Given the description of an element on the screen output the (x, y) to click on. 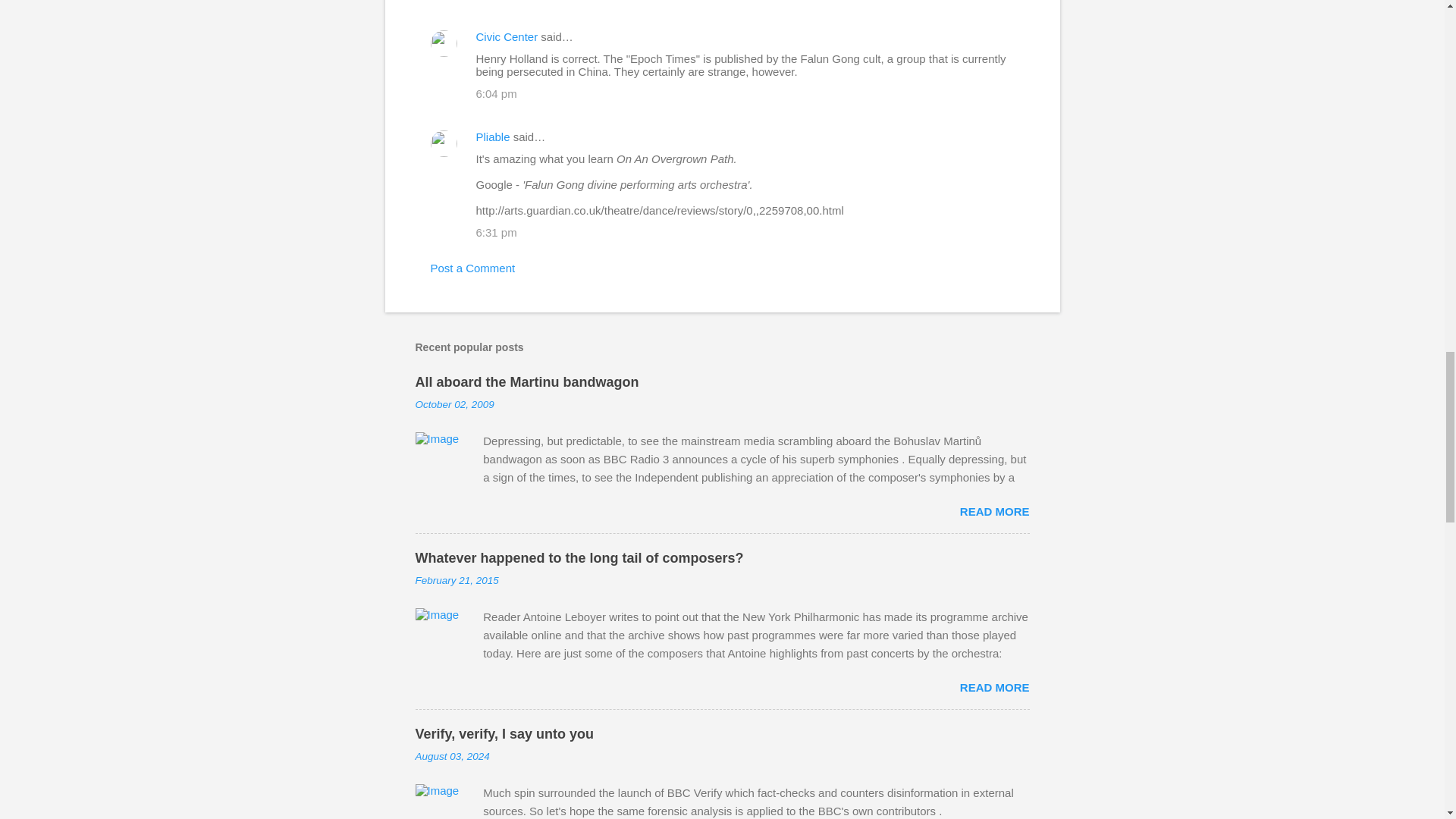
6:04 pm (496, 92)
Post a Comment (472, 267)
Civic Center (507, 36)
6:31 pm (496, 232)
Pliable (493, 136)
